Given the description of an element on the screen output the (x, y) to click on. 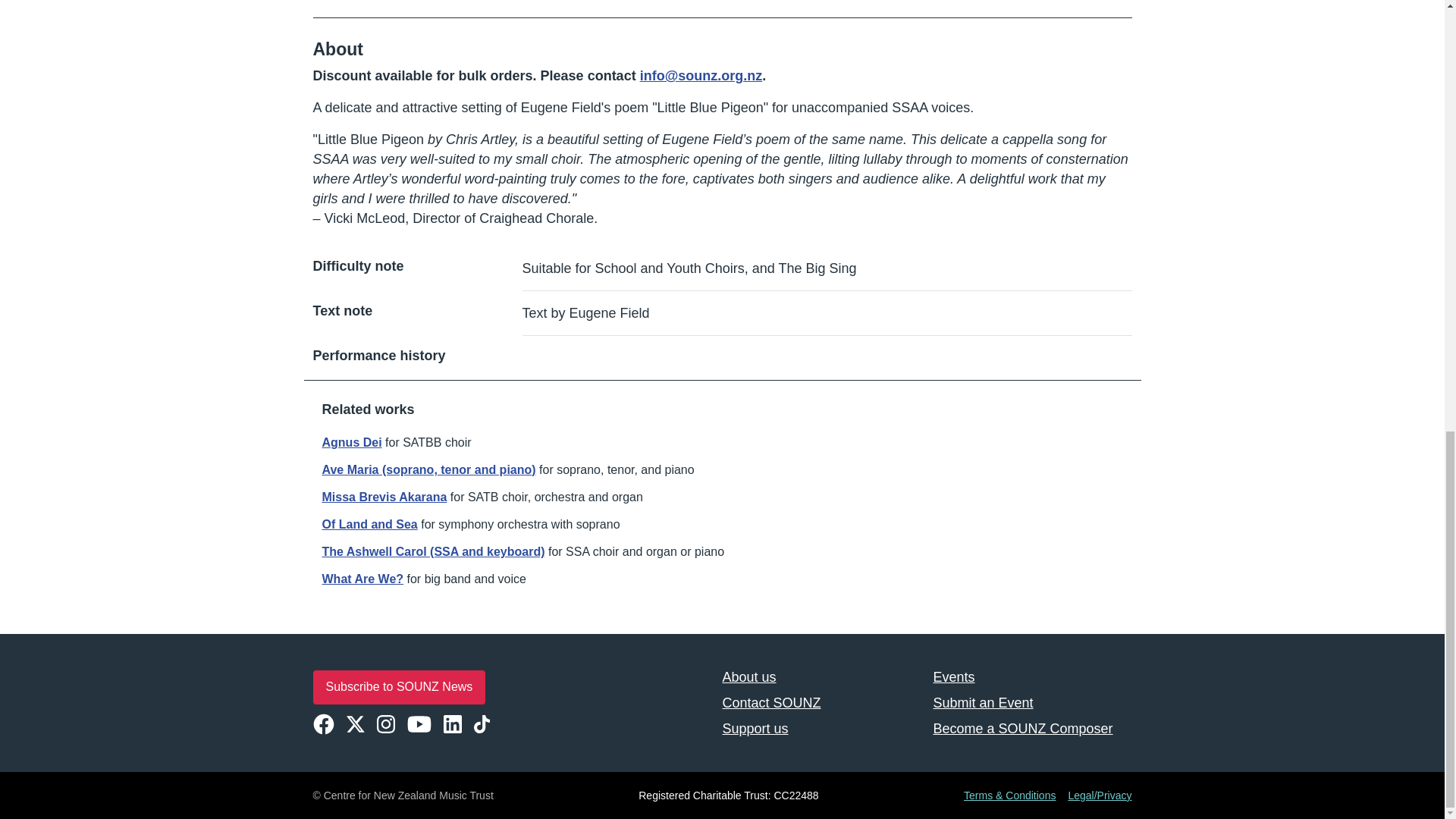
Of Land and Sea (368, 523)
Agnus Dei (351, 441)
Missa Brevis Akarana (383, 496)
What Are We? (362, 578)
Subscribe to SOUNZ News (398, 687)
